Given the description of an element on the screen output the (x, y) to click on. 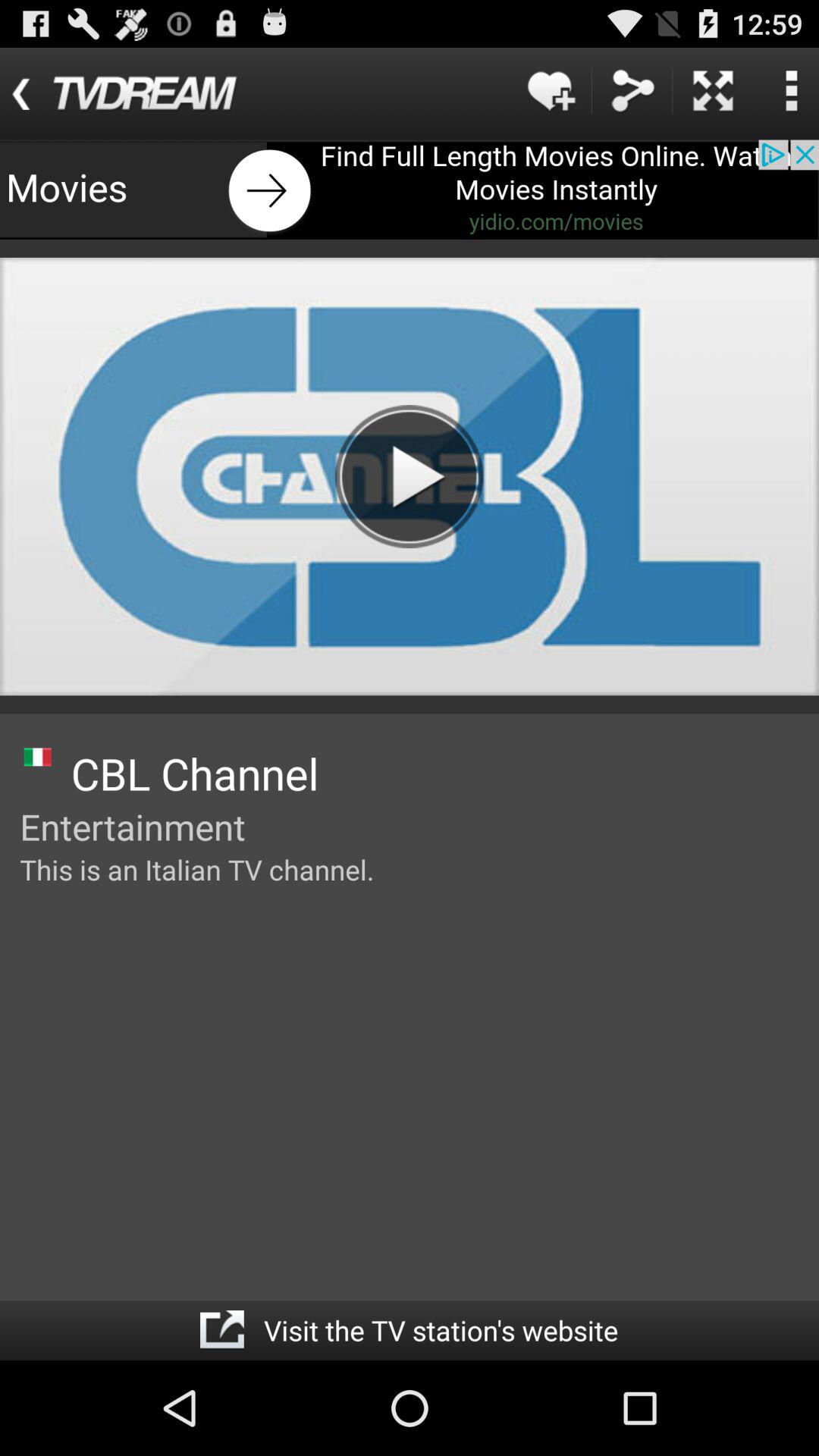
share this application (632, 90)
